Given the description of an element on the screen output the (x, y) to click on. 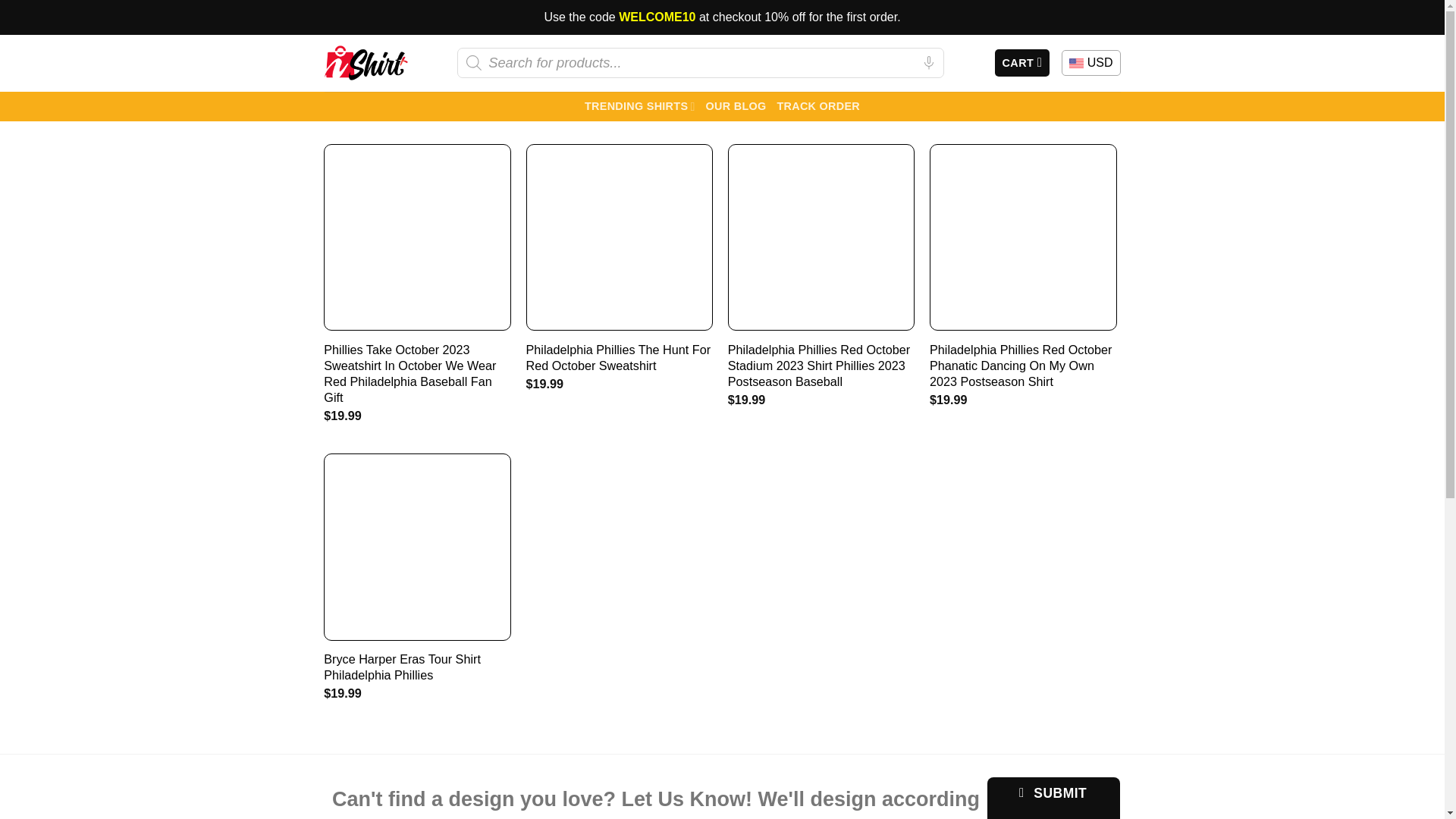
SUBMIT REQUEST (1053, 798)
Cart (1021, 62)
iShirtPlus (365, 63)
Philadelphia Phillies The Hunt For Red October Sweatshirt (619, 357)
Bryce Harper Eras Tour Shirt Philadelphia Phillies (417, 667)
TRACK ORDER (818, 105)
OUR BLOG (736, 105)
CART (1021, 62)
